Given the description of an element on the screen output the (x, y) to click on. 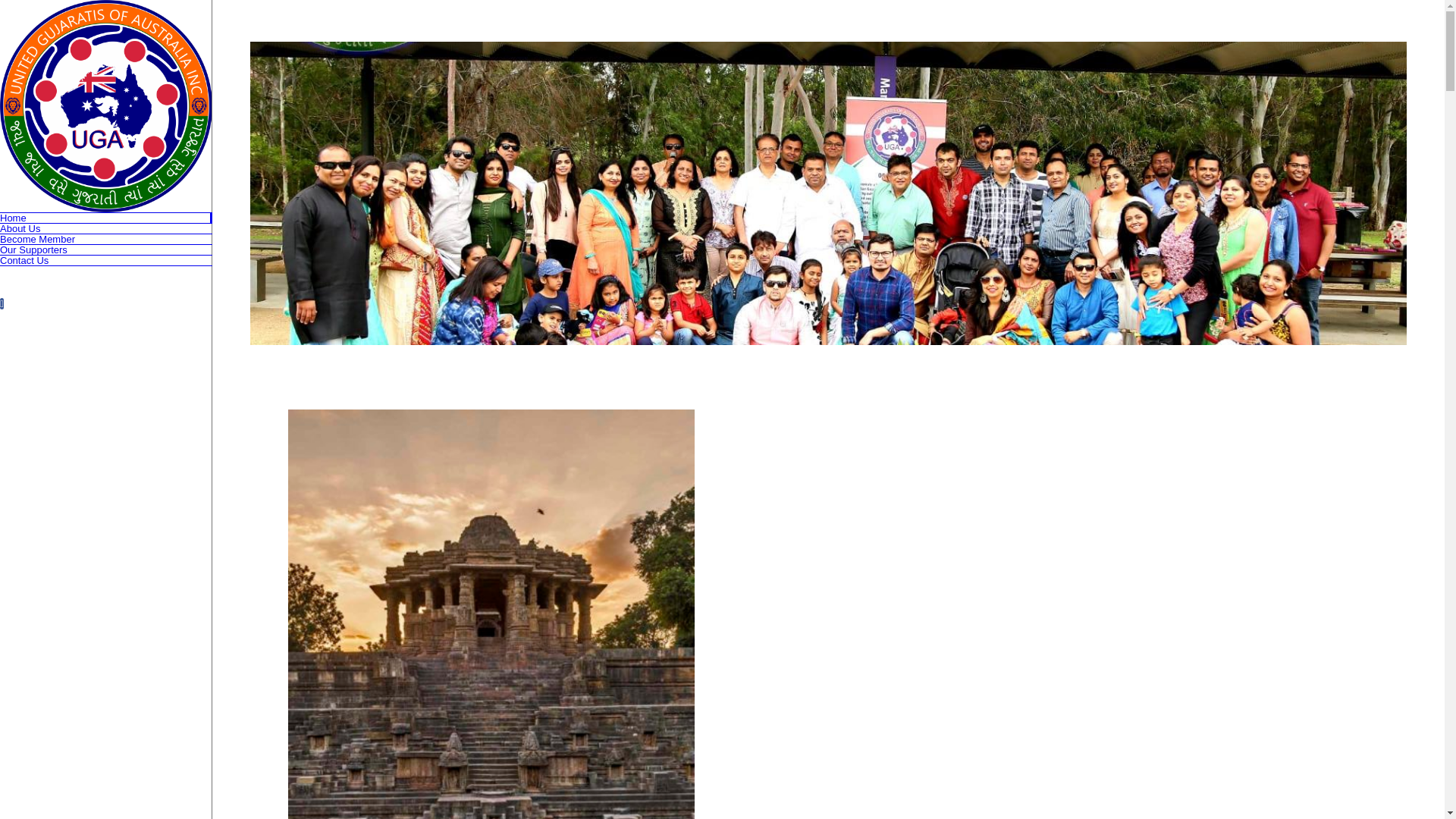
About Us Element type: text (106, 228)
Become Member Element type: text (106, 239)
Contact Us Element type: text (106, 260)
Home Element type: text (106, 217)
Facebook Element type: text (1, 303)
Our Supporters Element type: text (106, 249)
